Given the description of an element on the screen output the (x, y) to click on. 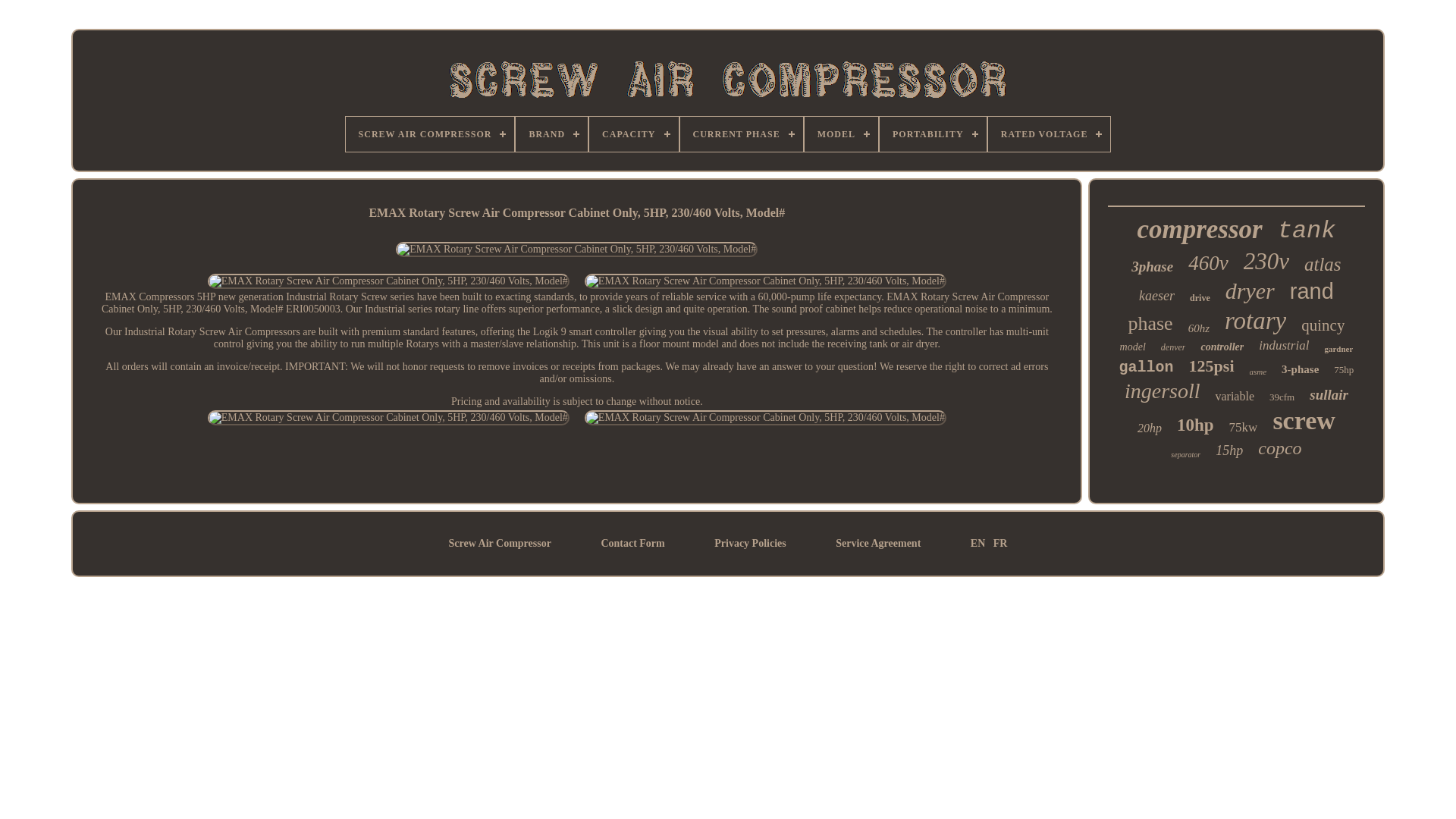
SCREW AIR COMPRESSOR (430, 134)
CAPACITY (633, 134)
BRAND (551, 134)
